Given the description of an element on the screen output the (x, y) to click on. 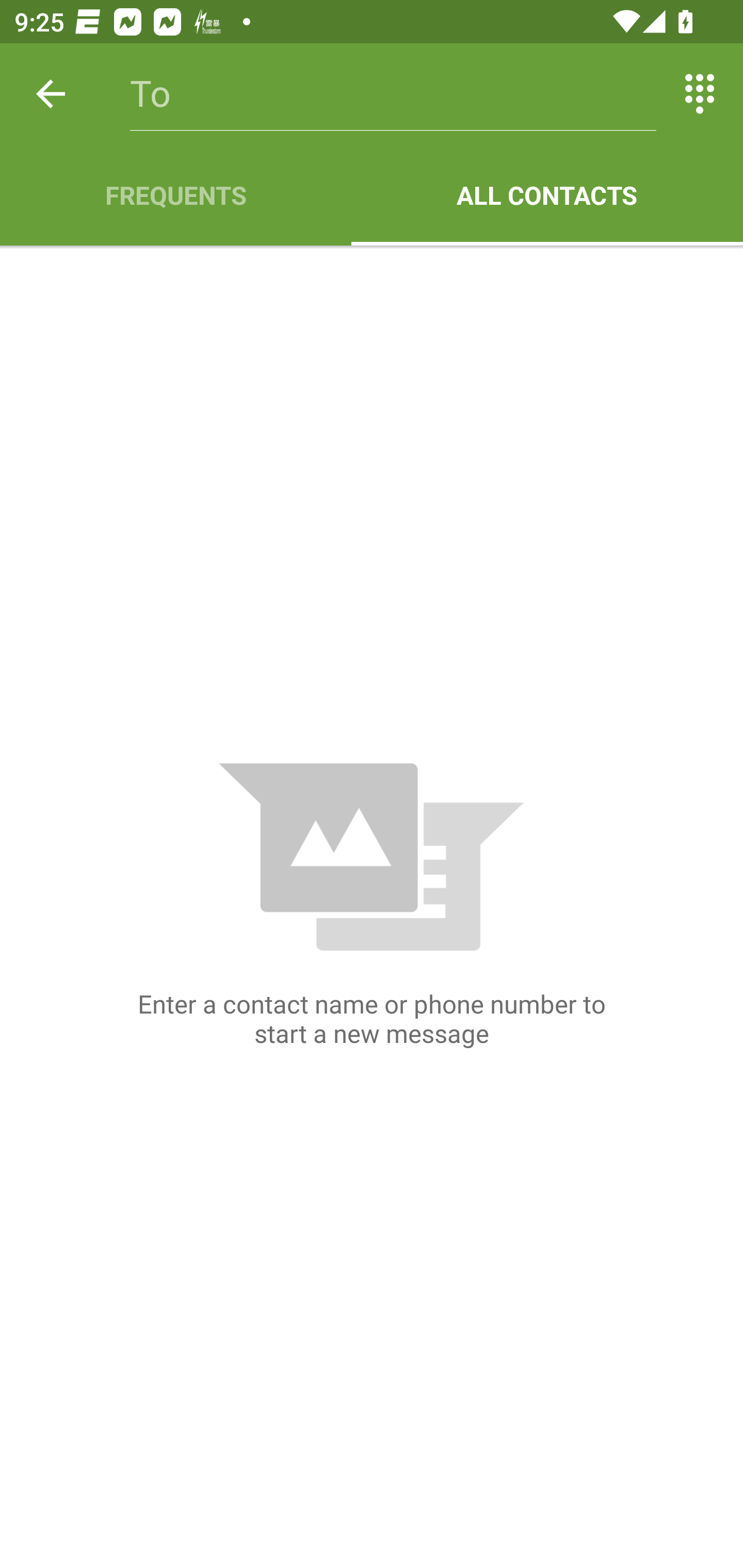
Back (50, 93)
Switch between entering text and numbers (699, 93)
To (393, 93)
FREQUENTS (175, 195)
ALL CONTACTS (547, 195)
